Given the description of an element on the screen output the (x, y) to click on. 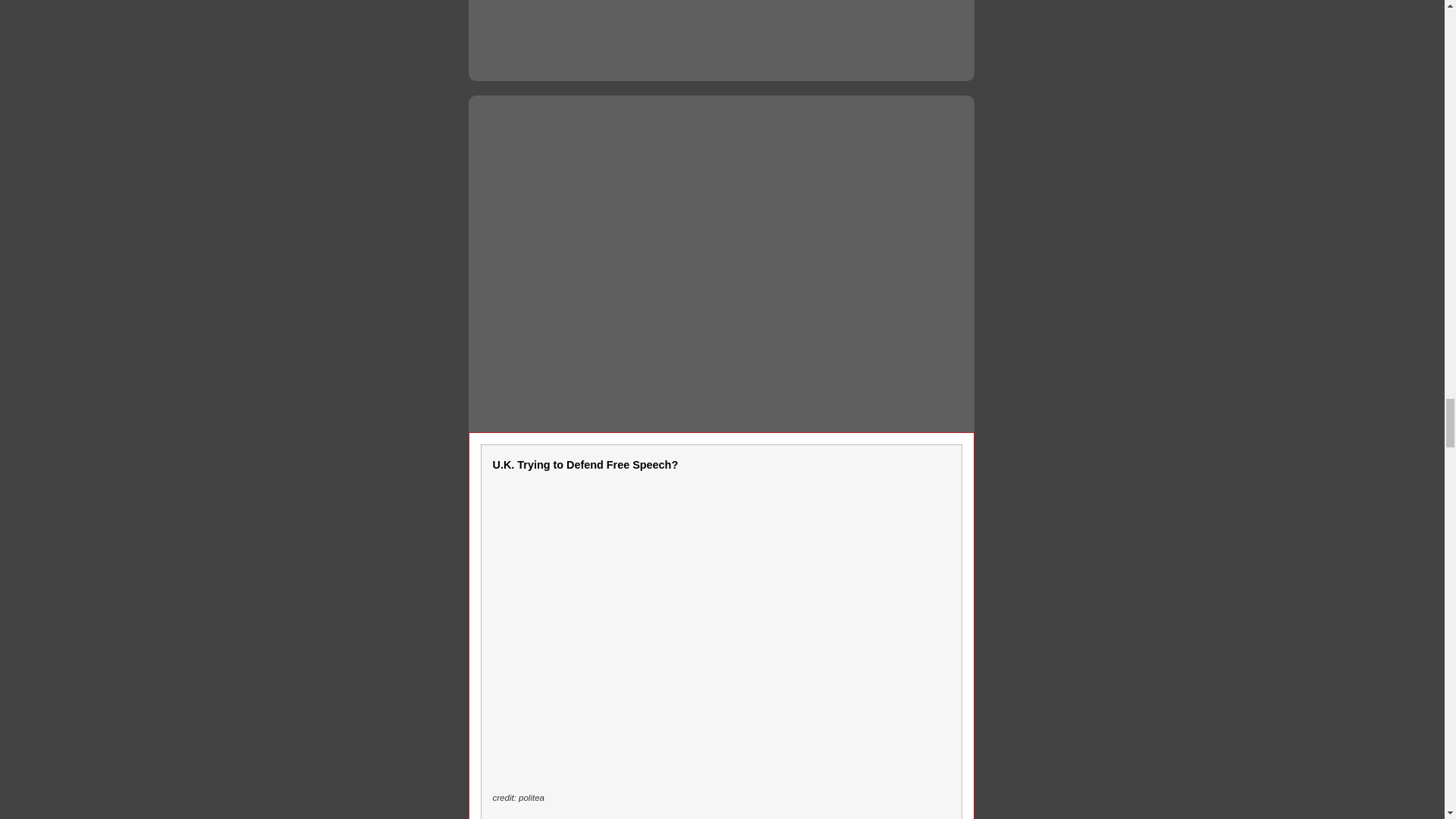
credit: (504, 797)
